Given the description of an element on the screen output the (x, y) to click on. 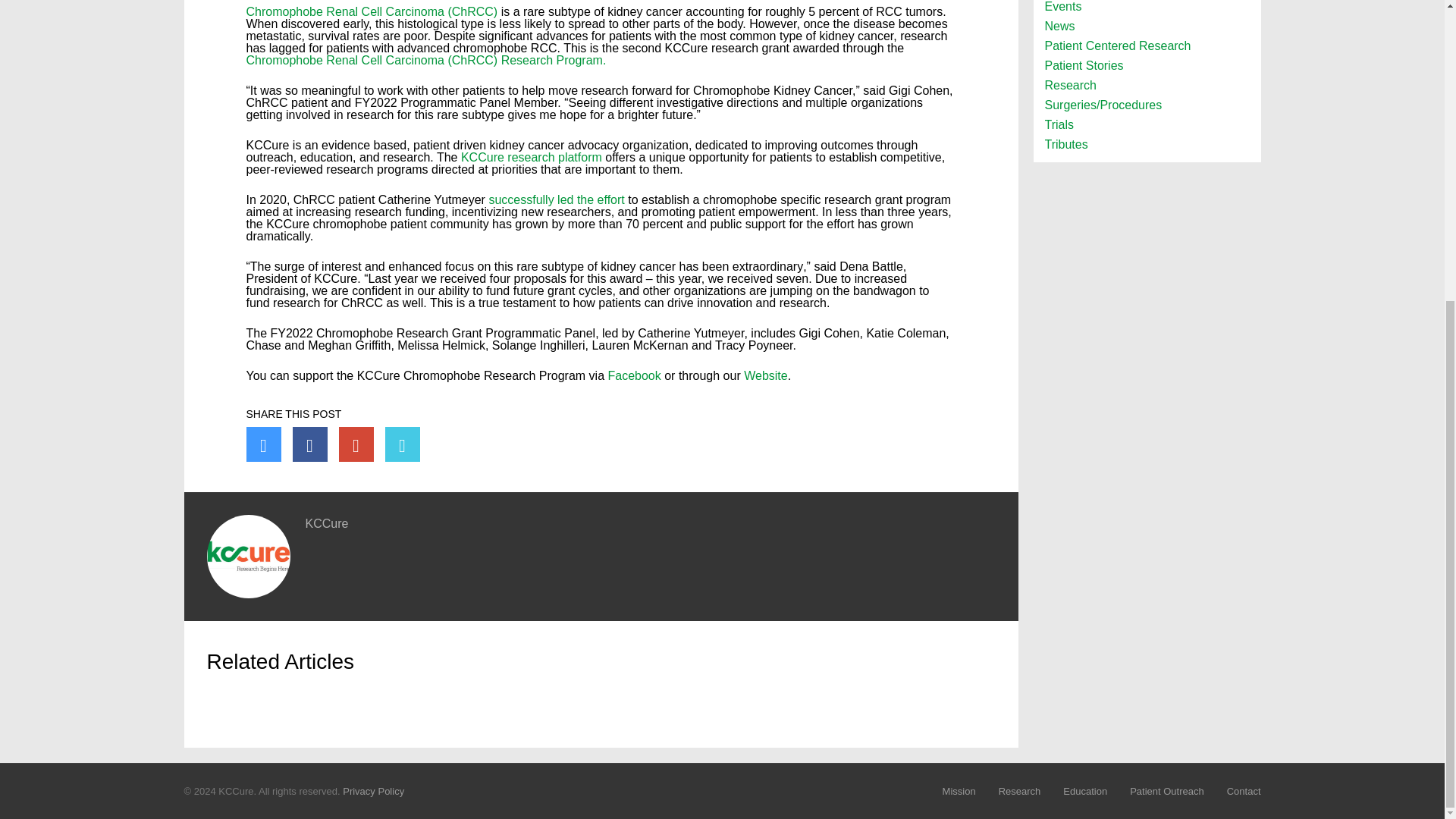
Subscribe (568, 617)
Tweet This Post (263, 443)
Share on Facebook (309, 443)
Share by Email (402, 443)
